Given the description of an element on the screen output the (x, y) to click on. 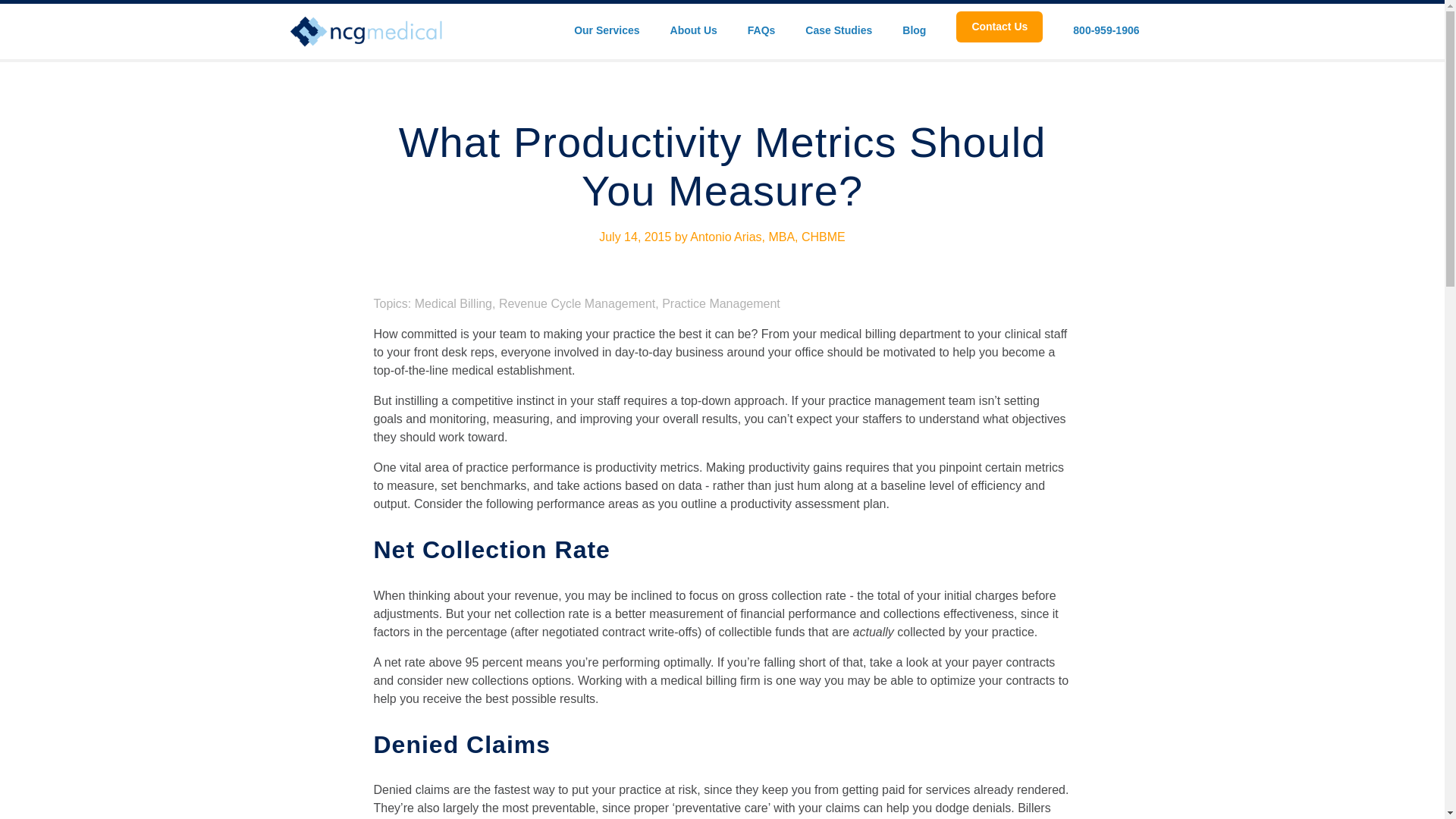
Medical Billing (453, 303)
800-959-1906 (1105, 26)
Revenue Cycle Management (577, 303)
FAQs (762, 26)
Our Services (606, 26)
About Us (693, 26)
Contact Us (999, 26)
Blog (914, 26)
Practice Management (721, 303)
800-959-1906 (1105, 26)
Case Studies (838, 26)
